Given the description of an element on the screen output the (x, y) to click on. 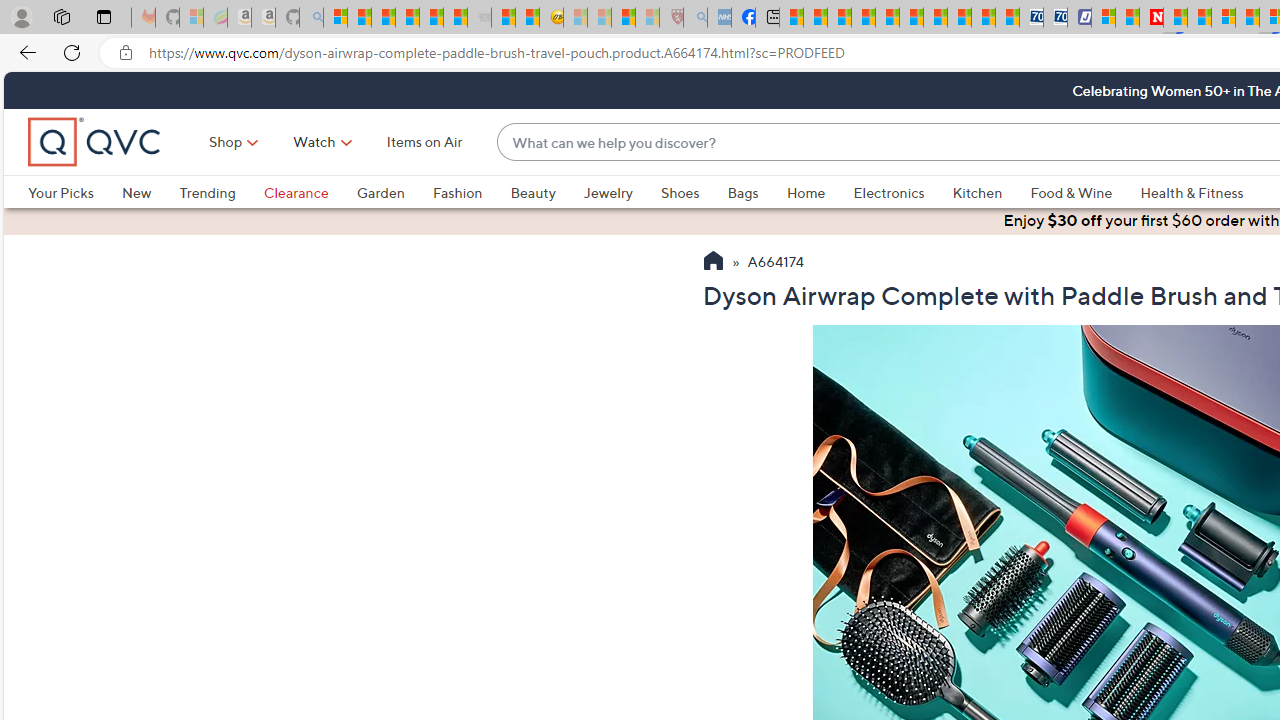
Food & Wine (1085, 192)
Shoes (694, 192)
Jewelry (607, 192)
Shop (226, 141)
Health & Fitness (1192, 192)
Trending (221, 192)
